Given the description of an element on the screen output the (x, y) to click on. 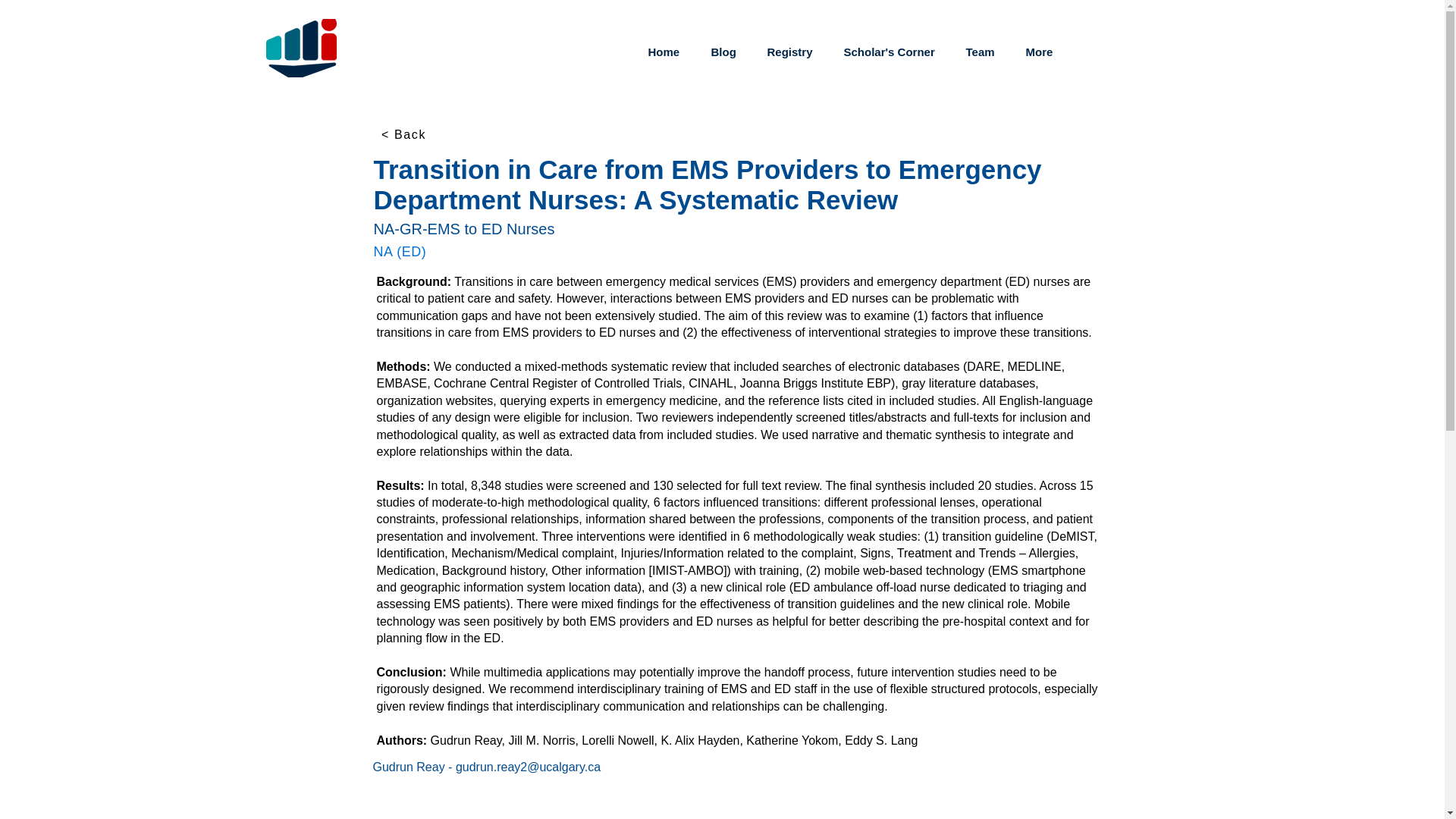
Registry (793, 52)
More (1042, 52)
Home (668, 52)
Scholar's Corner (893, 52)
Blog (726, 52)
Team (983, 52)
